Given the description of an element on the screen output the (x, y) to click on. 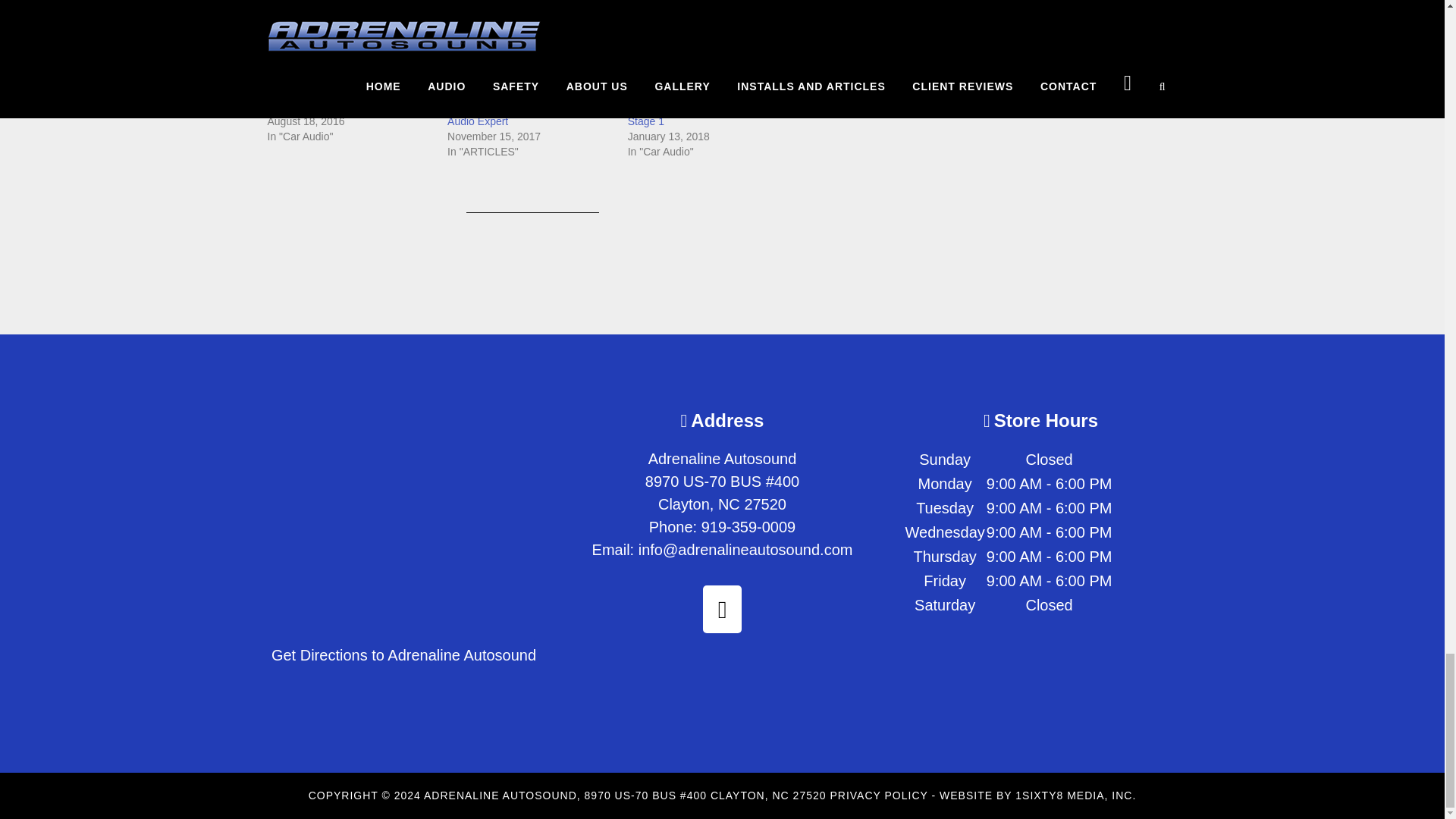
Raleigh BMW Client Gets X3 Audio System Upgrades (349, 41)
Raleigh BMW Client Gets X3 Audio System Upgrades (334, 98)
